Given the description of an element on the screen output the (x, y) to click on. 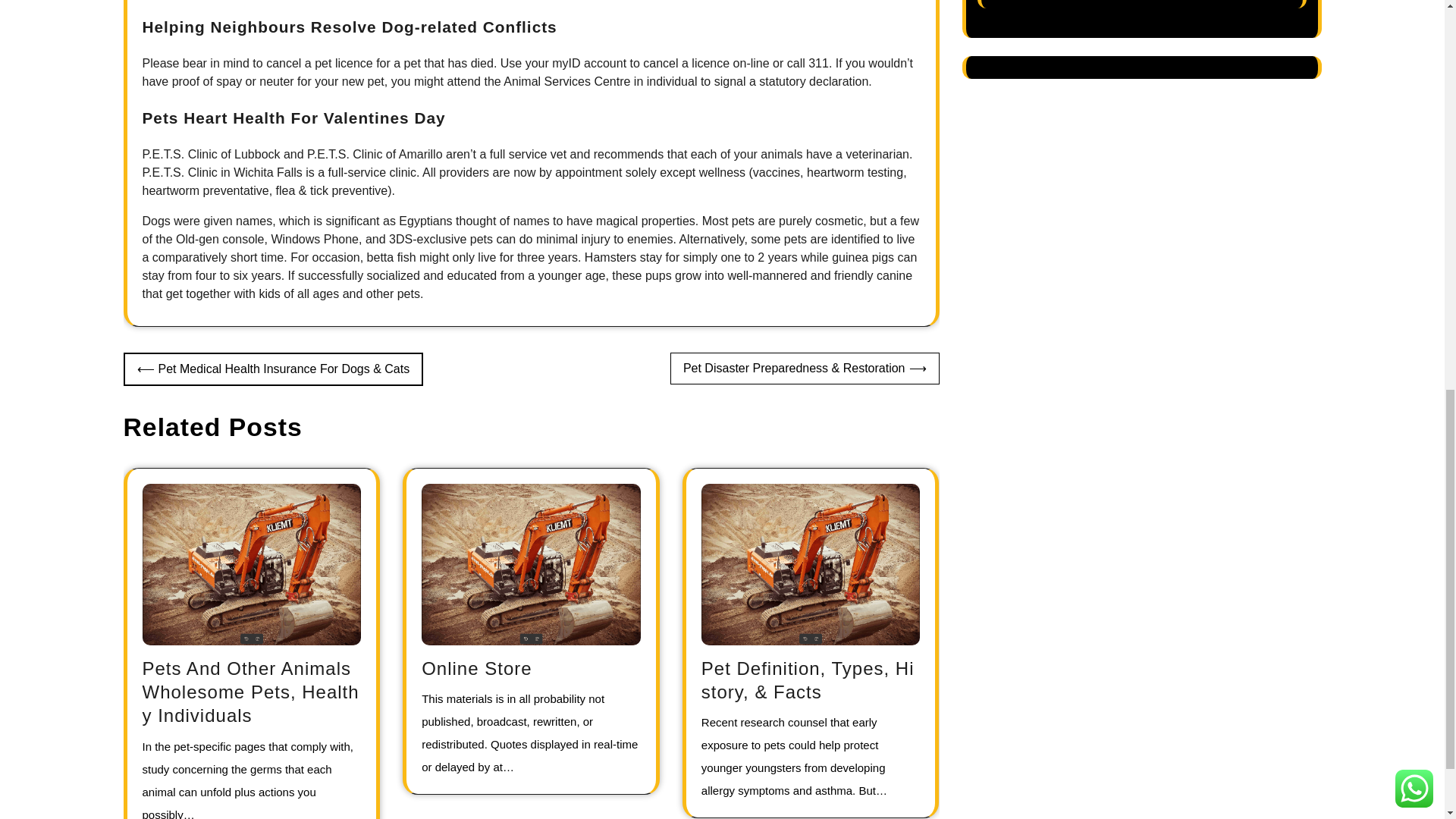
Online Store (476, 668)
Pets And Other Animals Wholesome Pets, Healthy Individuals (250, 691)
